Given the description of an element on the screen output the (x, y) to click on. 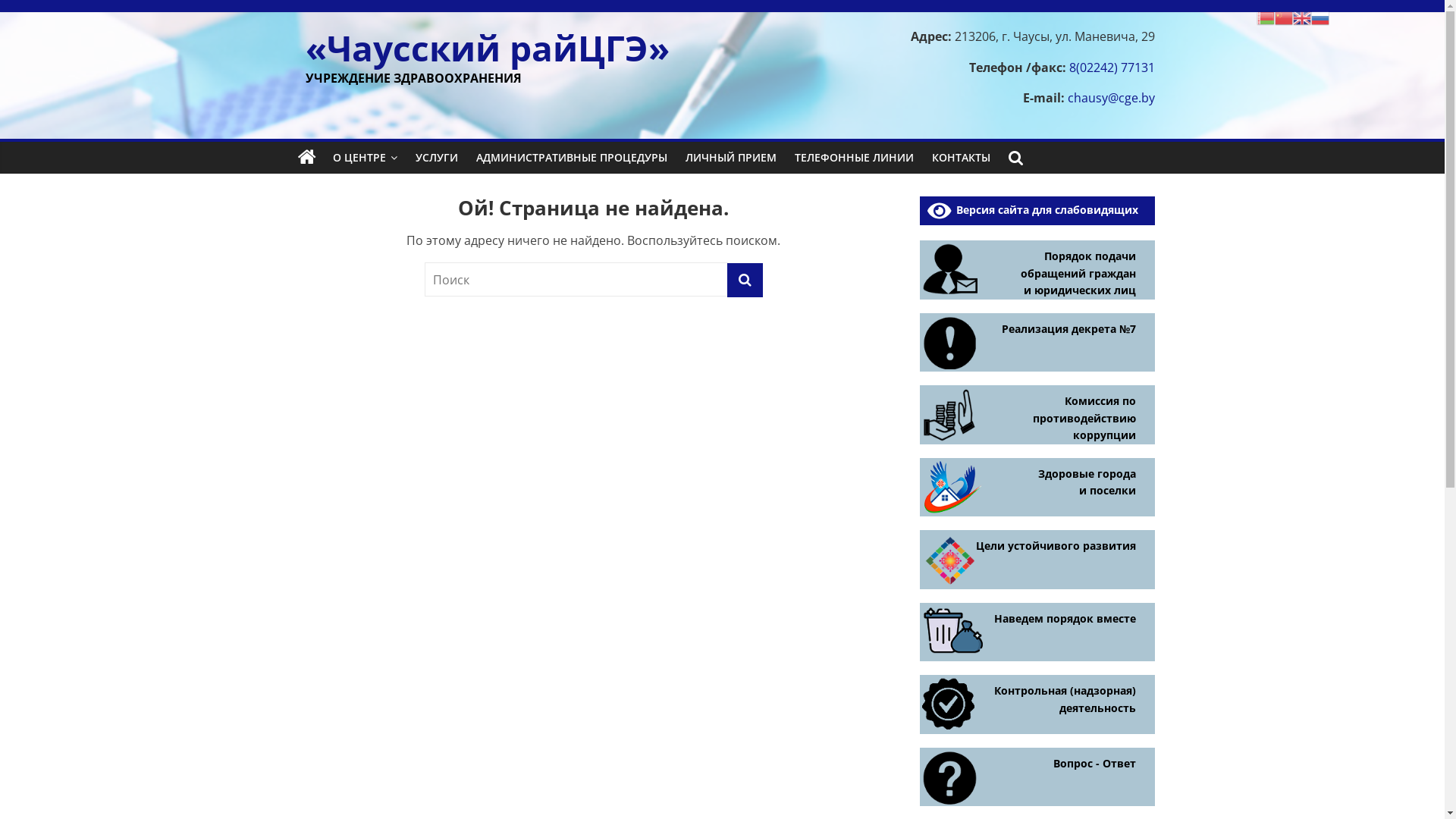
English Element type: hover (1301, 16)
8(02242) 77131 Element type: text (1111, 67)
Belarusian Element type: hover (1265, 16)
Chinese (Simplified) Element type: hover (1283, 16)
chausy@cge.by Element type: text (1110, 97)
Russian Element type: hover (1320, 16)
